Given the description of an element on the screen output the (x, y) to click on. 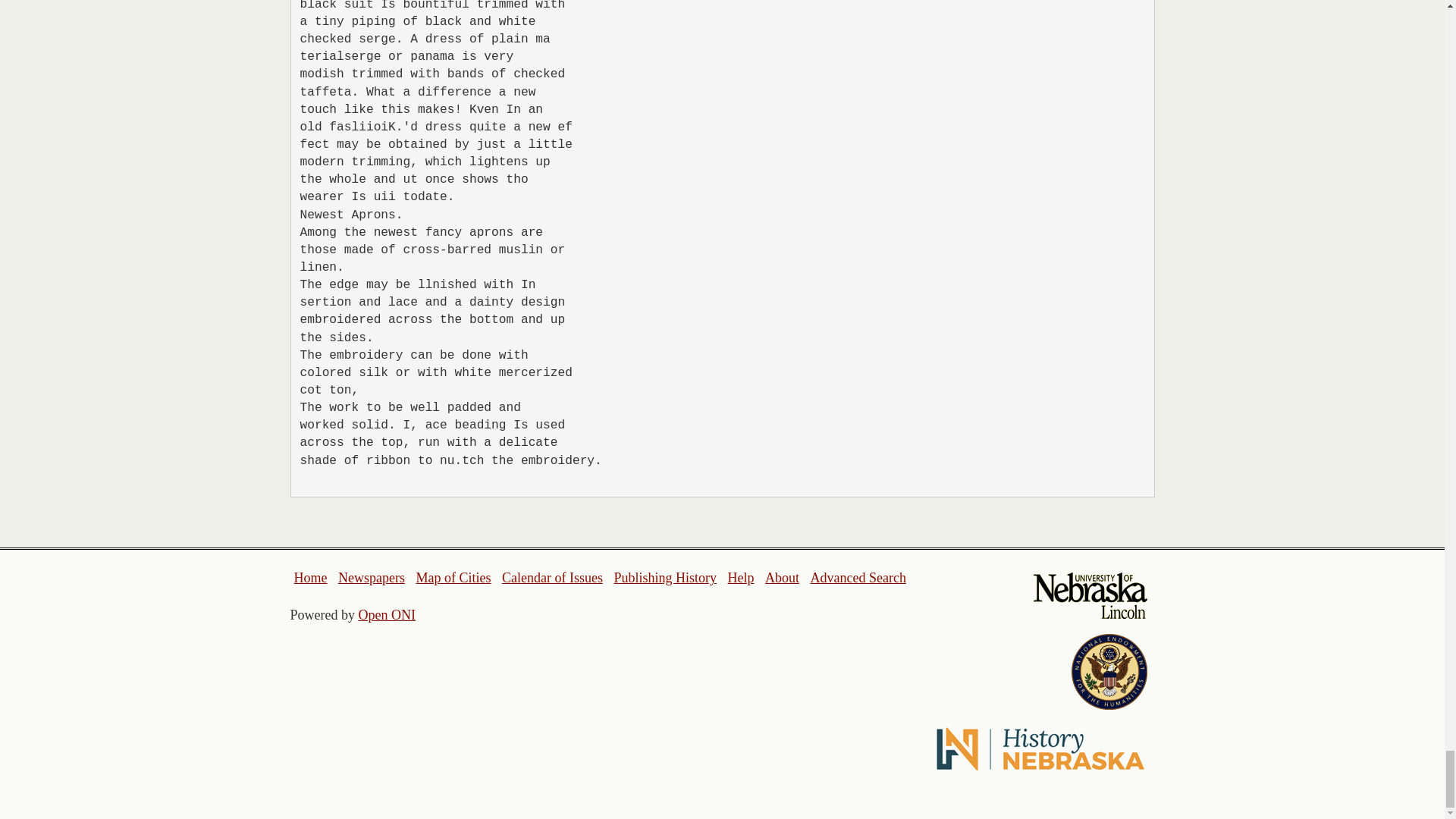
Advanced Search (857, 577)
Open ONI (386, 614)
Home (310, 577)
Help (740, 577)
Calendar of Issues (552, 577)
About (782, 577)
Map of Cities (452, 577)
Publishing History (664, 577)
Newspapers (370, 577)
